Given the description of an element on the screen output the (x, y) to click on. 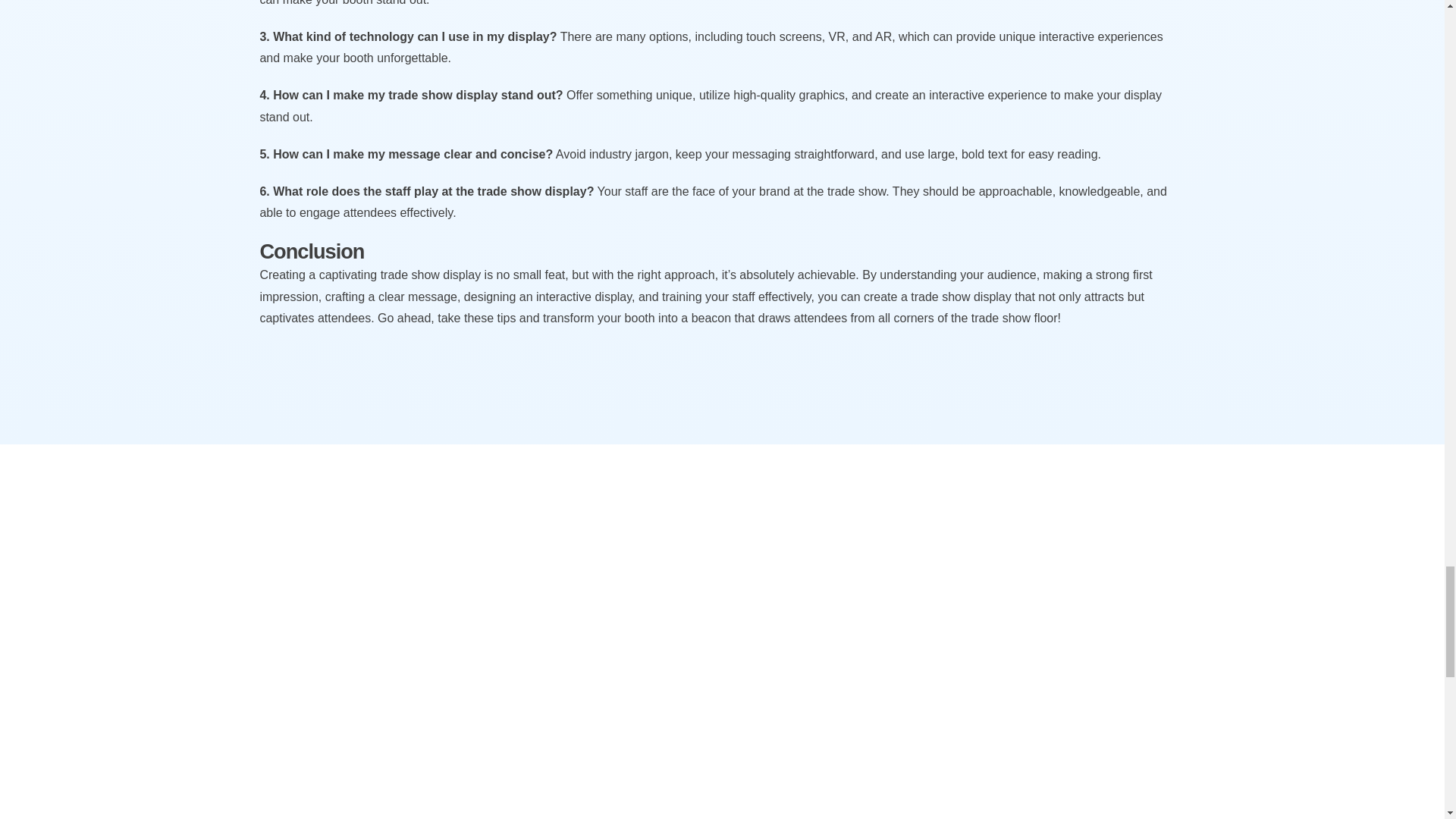
Post Comment (305, 809)
